Given the description of an element on the screen output the (x, y) to click on. 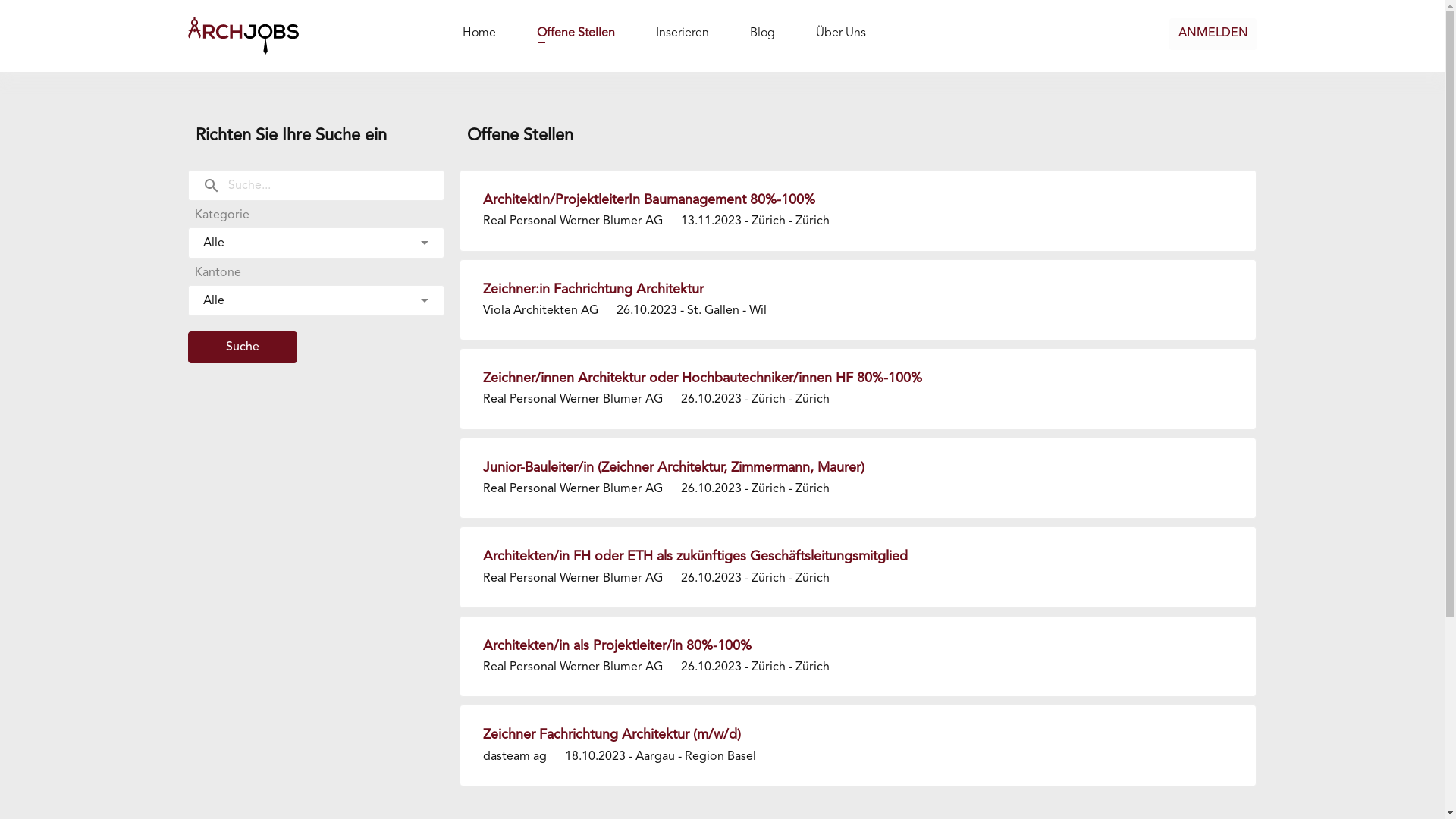
ANMELDEN Element type: text (1212, 34)
Offene Stellen Element type: text (575, 35)
Home Element type: text (478, 35)
Blog Element type: text (762, 35)
Suche Element type: text (242, 347)
Inserieren Element type: text (682, 35)
